Given the description of an element on the screen output the (x, y) to click on. 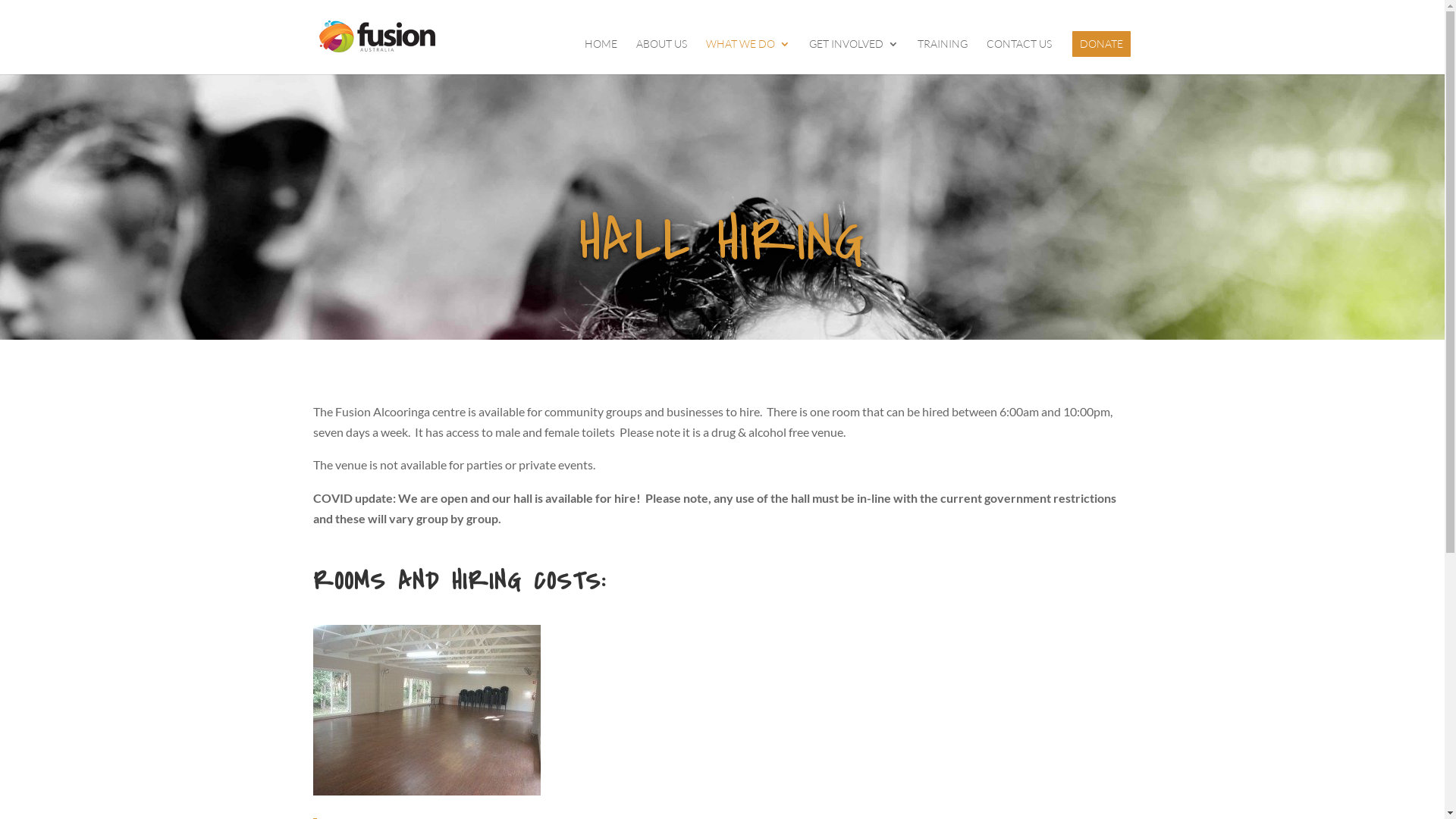
DONATE Element type: text (1101, 43)
GET INVOLVED Element type: text (852, 56)
WHAT WE DO Element type: text (747, 56)
ABOUT US Element type: text (660, 56)
b-hall-inside-1-300x225 Element type: hover (425, 709)
CONTACT US Element type: text (1018, 56)
TRAINING Element type: text (942, 56)
HOME Element type: text (599, 56)
